Given the description of an element on the screen output the (x, y) to click on. 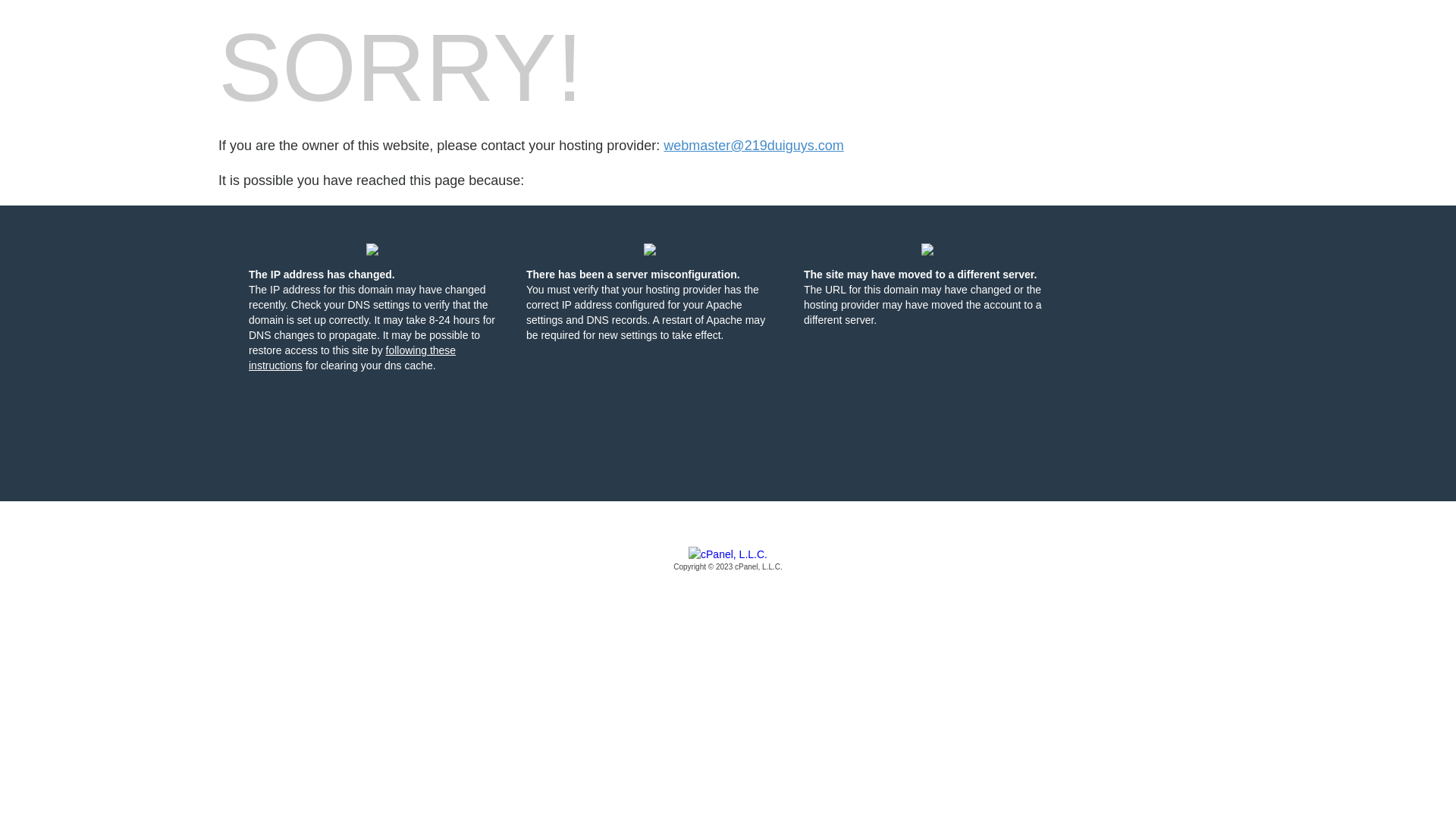
following these instructions Element type: text (351, 357)
webmaster@219duiguys.com Element type: text (753, 145)
